Given the description of an element on the screen output the (x, y) to click on. 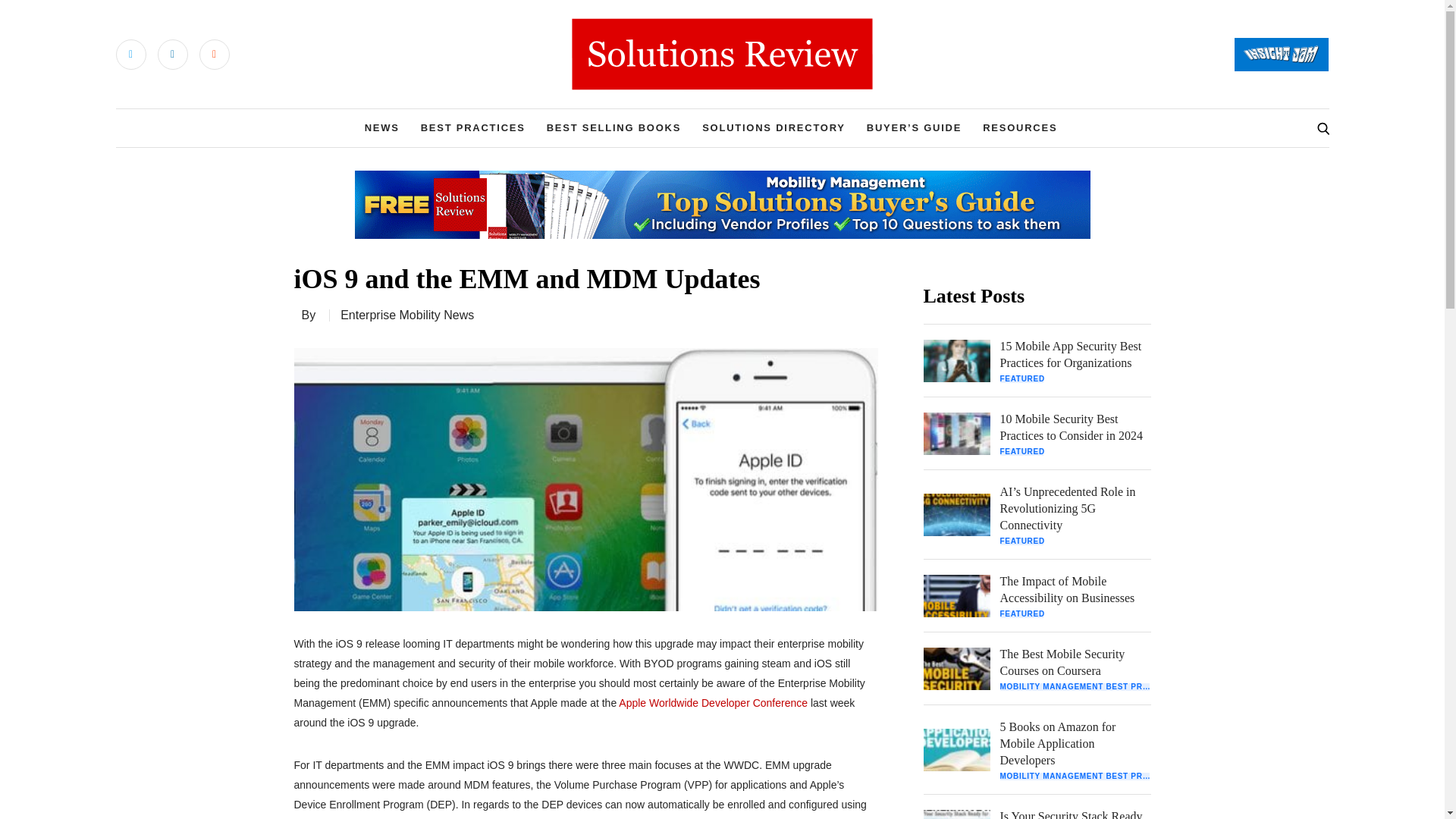
SOLUTIONS DIRECTORY (773, 127)
BEST SELLING BOOKS (614, 127)
BEST PRACTICES (472, 127)
Enterprise Mobility News (407, 314)
NEWS (381, 127)
Apple Worldwide Developer Conference (713, 702)
RESOURCES (1019, 127)
